Given the description of an element on the screen output the (x, y) to click on. 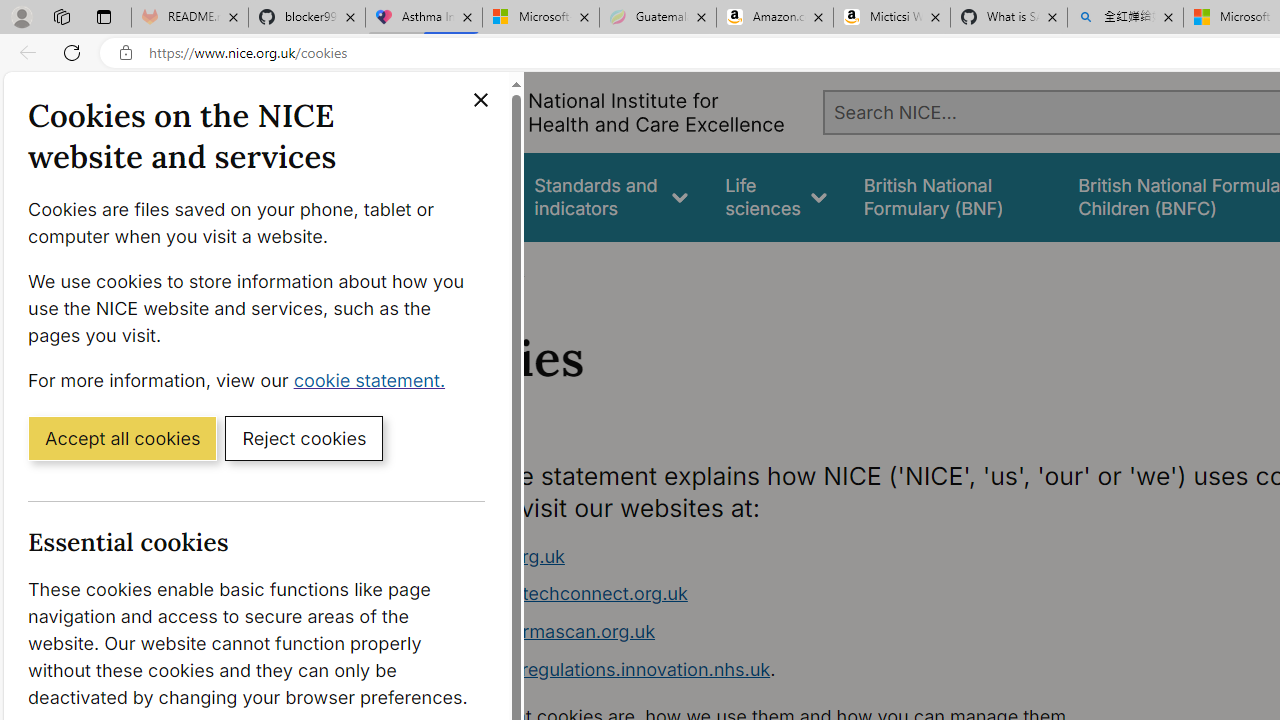
www.healthtechconnect.org.uk (554, 593)
cookie statement. (Opens in a new window) (373, 379)
www.ukpharmascan.org.uk (538, 631)
www.healthtechconnect.org.uk (796, 594)
false (952, 196)
